Given the description of an element on the screen output the (x, y) to click on. 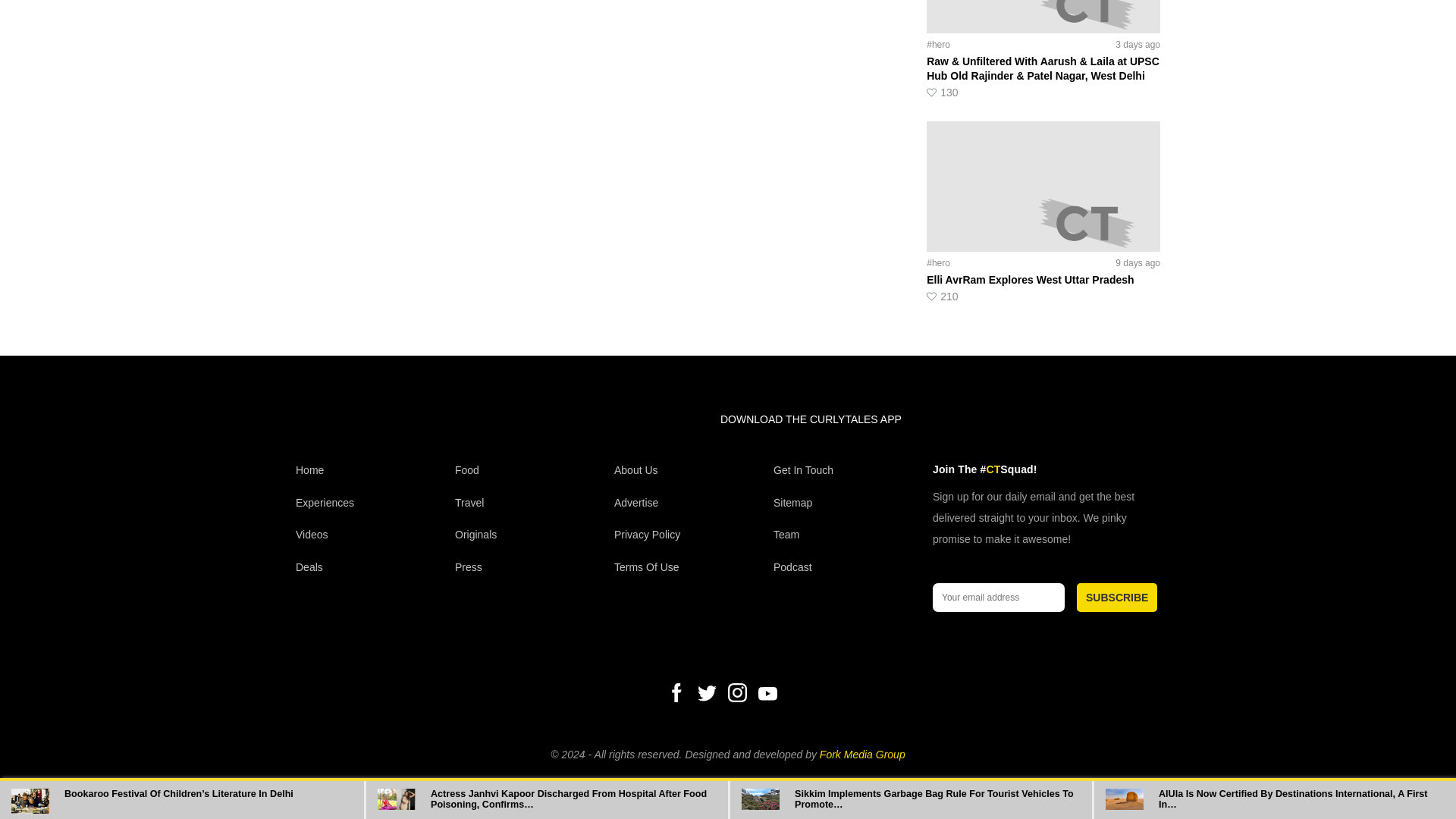
Subscribe (1117, 597)
